Given the description of an element on the screen output the (x, y) to click on. 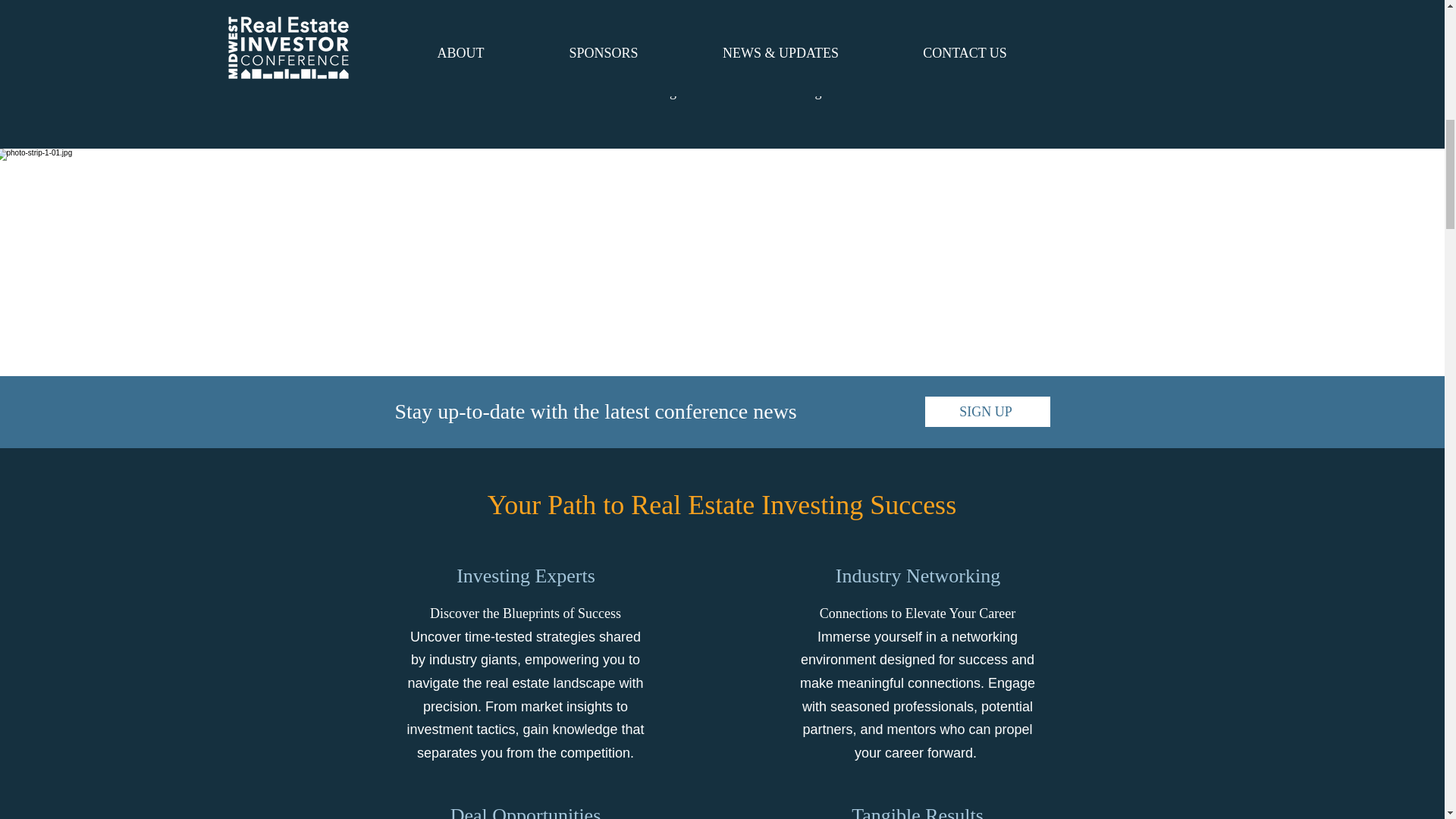
SIGN UP (986, 411)
